Given the description of an element on the screen output the (x, y) to click on. 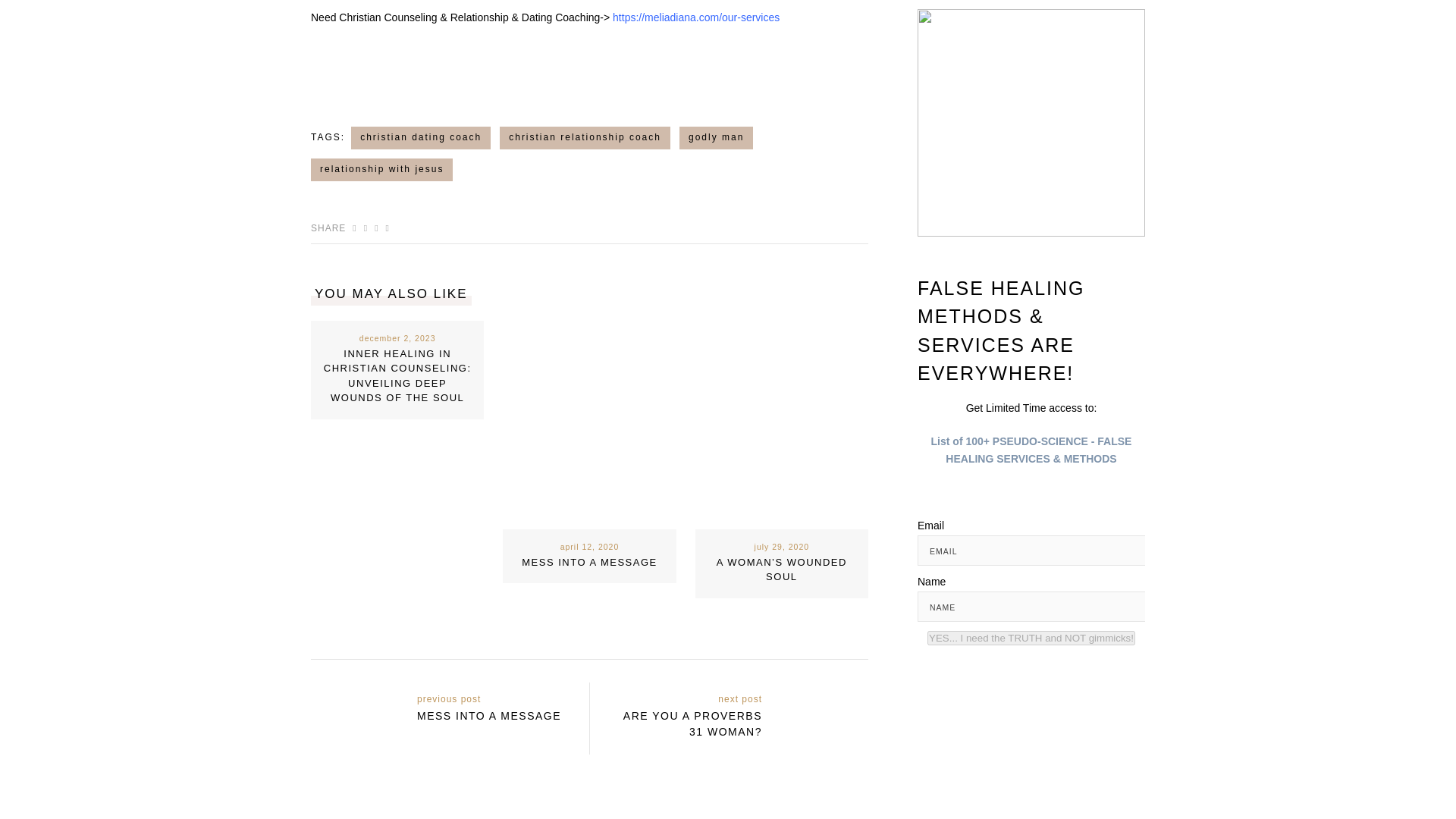
relationship with jesus (381, 169)
christian relationship coach (584, 137)
godly man (715, 137)
christian dating coach (420, 137)
MESS INTO A MESSAGE (589, 562)
